Given the description of an element on the screen output the (x, y) to click on. 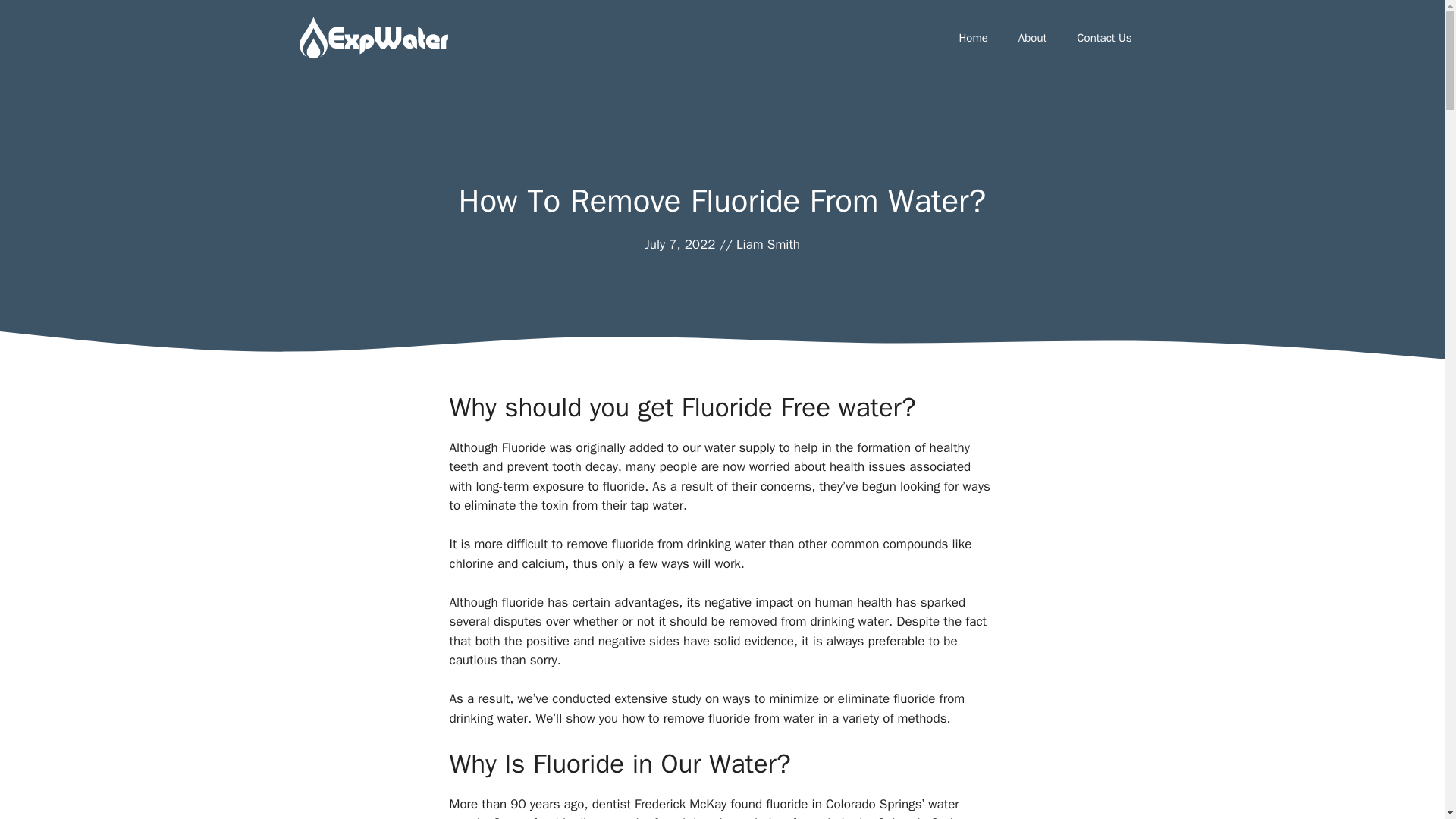
About (1032, 37)
Exp Water (372, 37)
Liam Smith (767, 244)
Home (973, 37)
Contact Us (1104, 37)
Exp Water (372, 36)
